Given the description of an element on the screen output the (x, y) to click on. 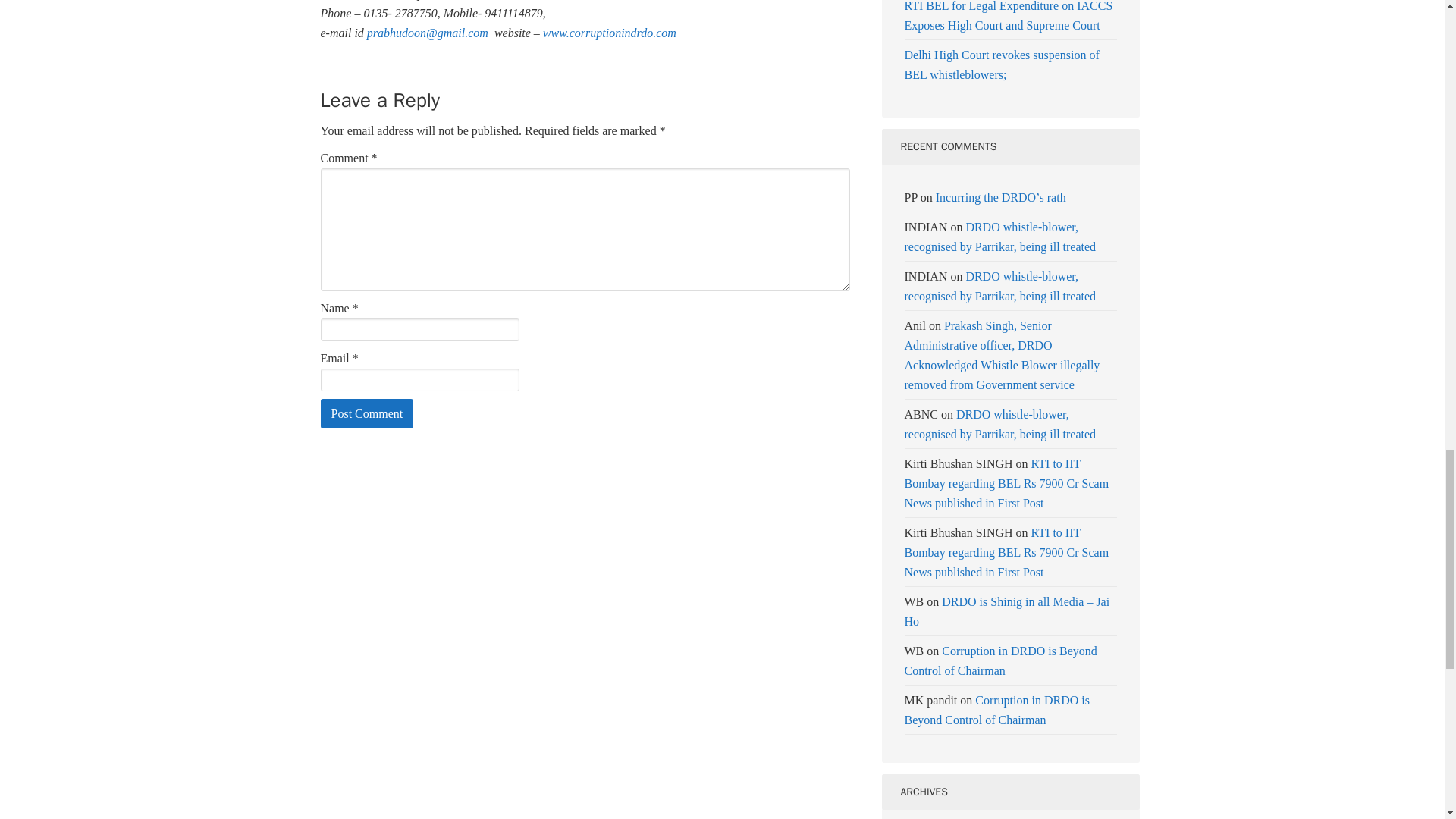
Post Comment (366, 413)
Delhi High Court revokes suspension of BEL whistleblowers; (1001, 64)
Post Comment (366, 413)
www.corruptionindrdo.com (610, 32)
